Given the description of an element on the screen output the (x, y) to click on. 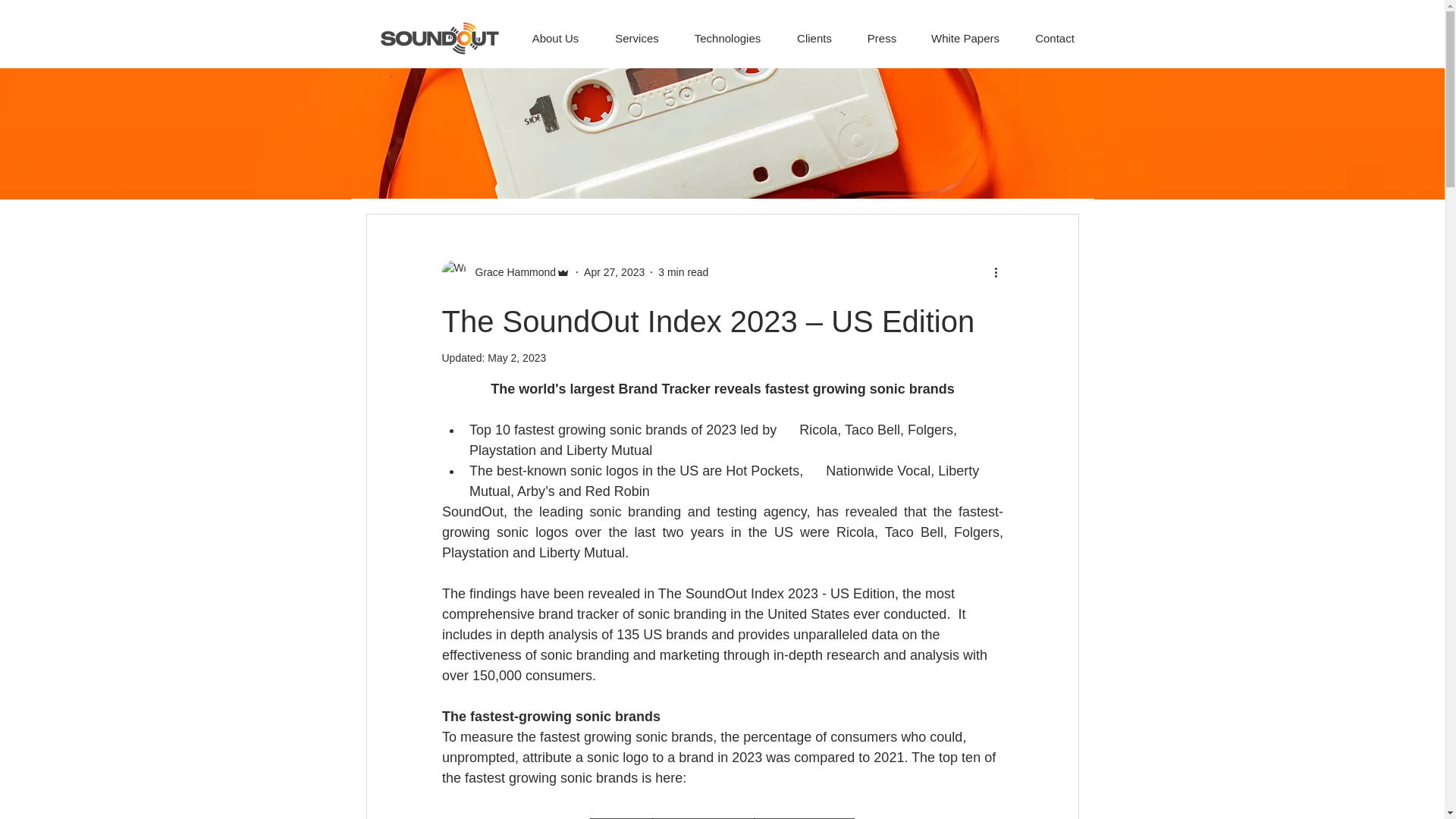
Technologies (727, 30)
Apr 27, 2023 (614, 271)
Grace Hammond (510, 271)
Services (636, 30)
Press (882, 30)
White Papers (964, 30)
May 2, 2023 (516, 357)
3 min read (682, 271)
Grace Hammond (505, 272)
About Us (554, 30)
Contact (1055, 30)
Clients (813, 30)
